Given the description of an element on the screen output the (x, y) to click on. 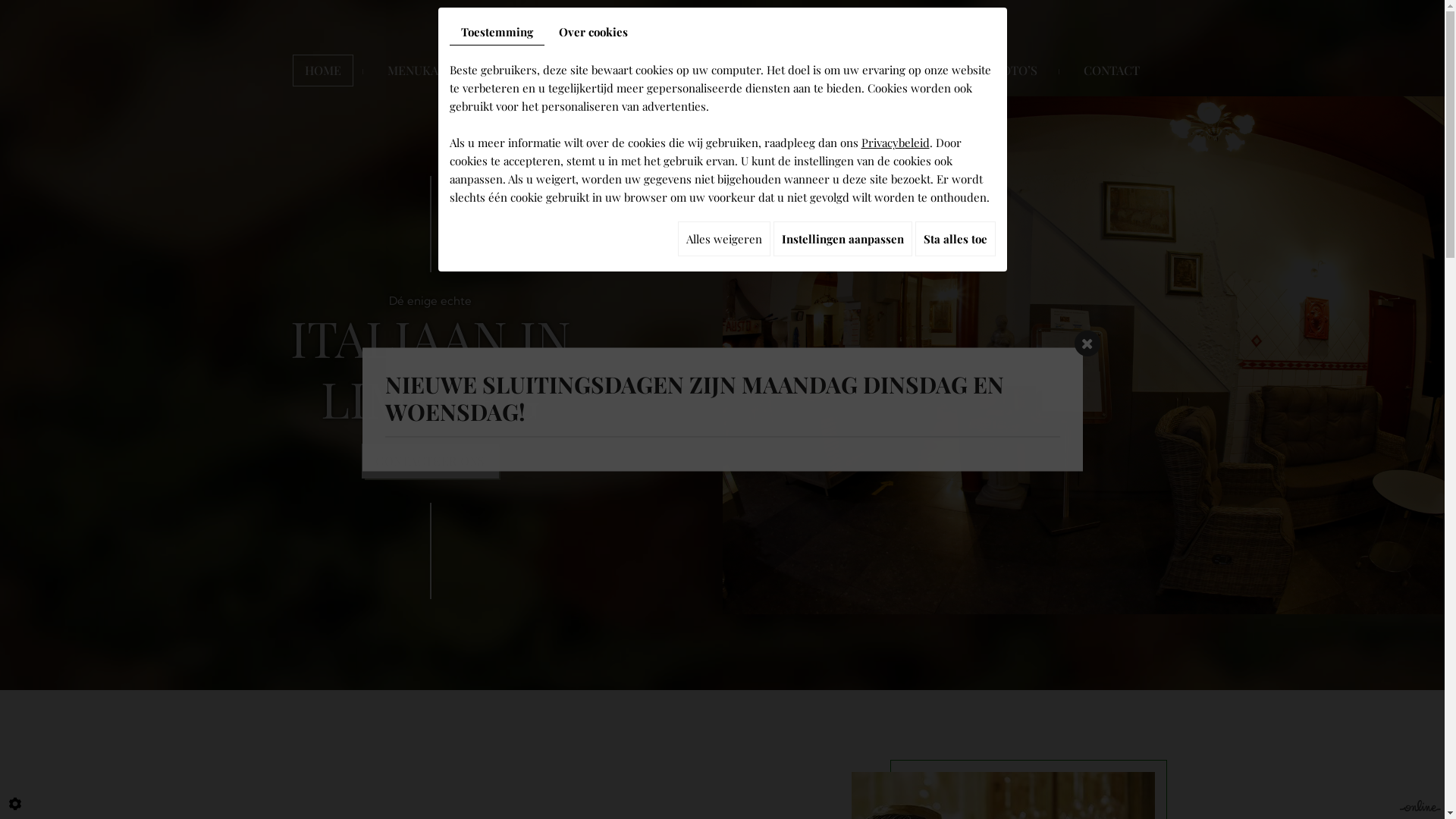
Alles weigeren Element type: text (723, 238)
Da Fausto - Italiaans restaurant Element type: hover (723, 45)
HOME Element type: text (322, 70)
CONTACTEER ONS Element type: text (429, 460)
Sta alles toe Element type: text (954, 238)
CONTACT Element type: text (1111, 70)
Toestemming Element type: text (495, 31)
MENUKAART Element type: text (424, 70)
GASTENBOEK Element type: text (908, 70)
Cookie-instelling bewerken Element type: text (14, 803)
Privacybeleid Element type: text (895, 142)
Instellingen aanpassen Element type: text (842, 238)
EERBETOON Element type: text (544, 70)
Over cookies Element type: text (593, 31)
